Given the description of an element on the screen output the (x, y) to click on. 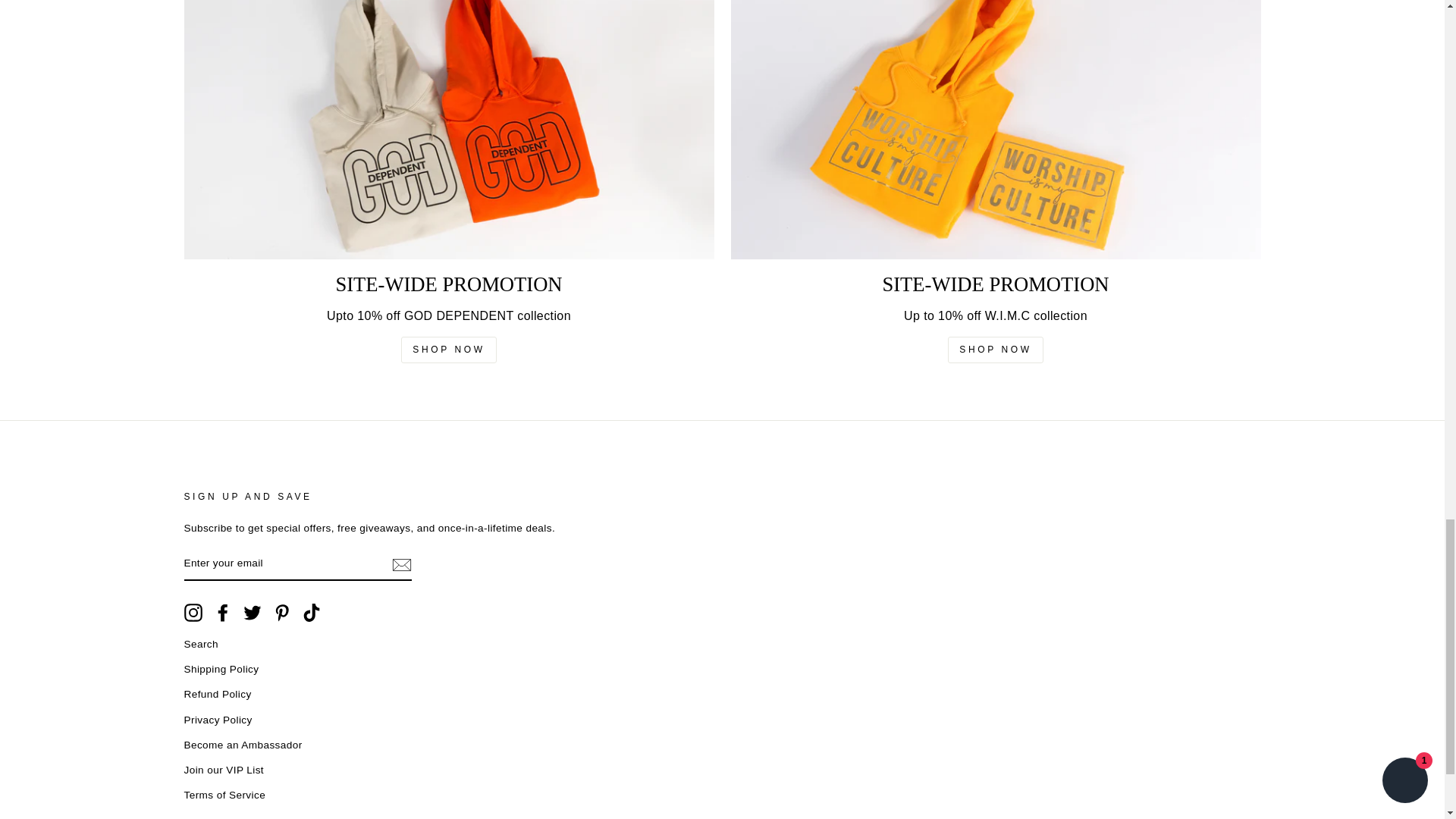
In-Essence on Instagram (192, 612)
In-Essence on Facebook (222, 612)
